Given the description of an element on the screen output the (x, y) to click on. 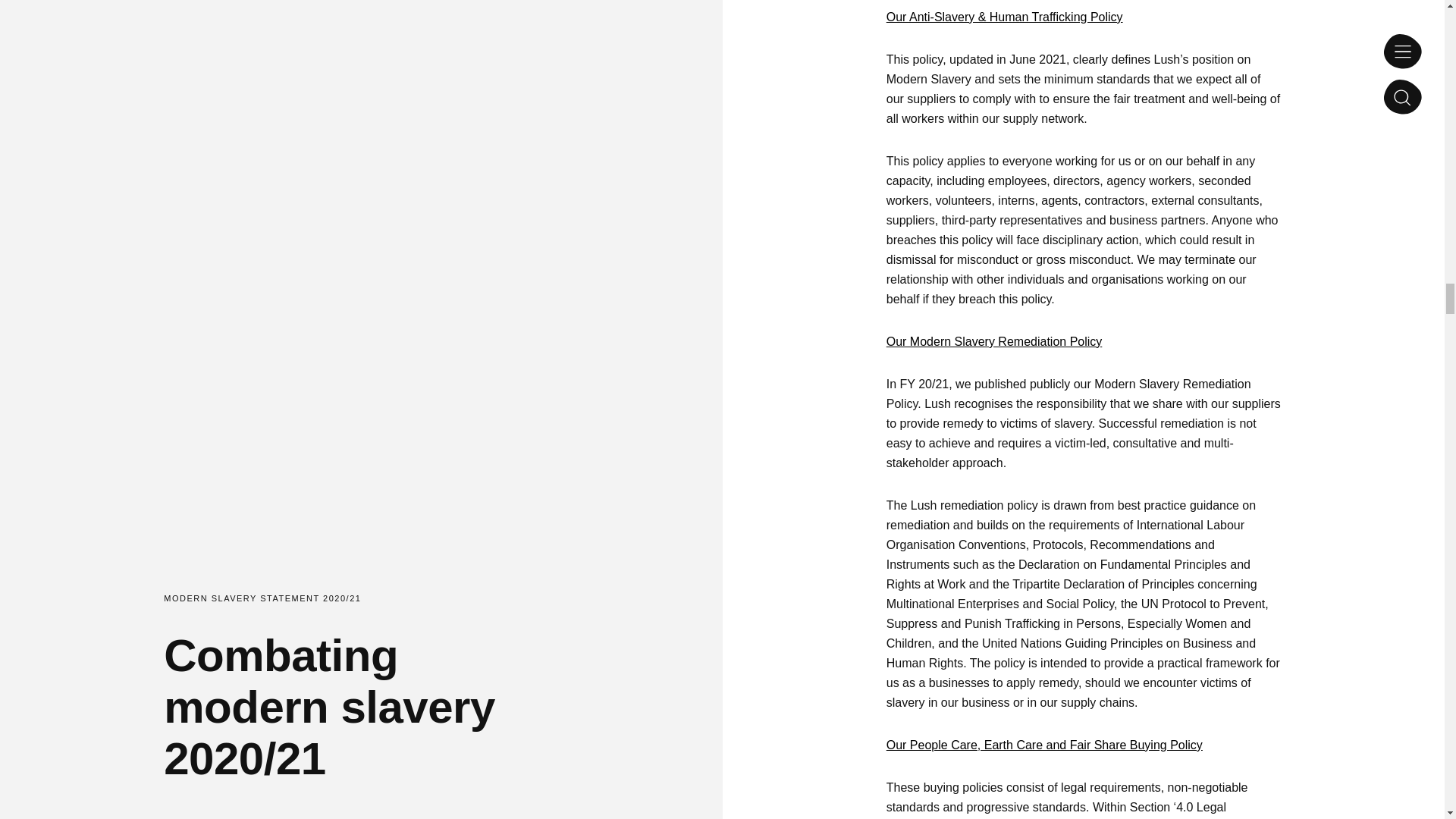
Our Modern Slavery Remediation Policy (994, 341)
Our People Care, Earth Care and Fair Share Buying Policy (1044, 744)
